Given the description of an element on the screen output the (x, y) to click on. 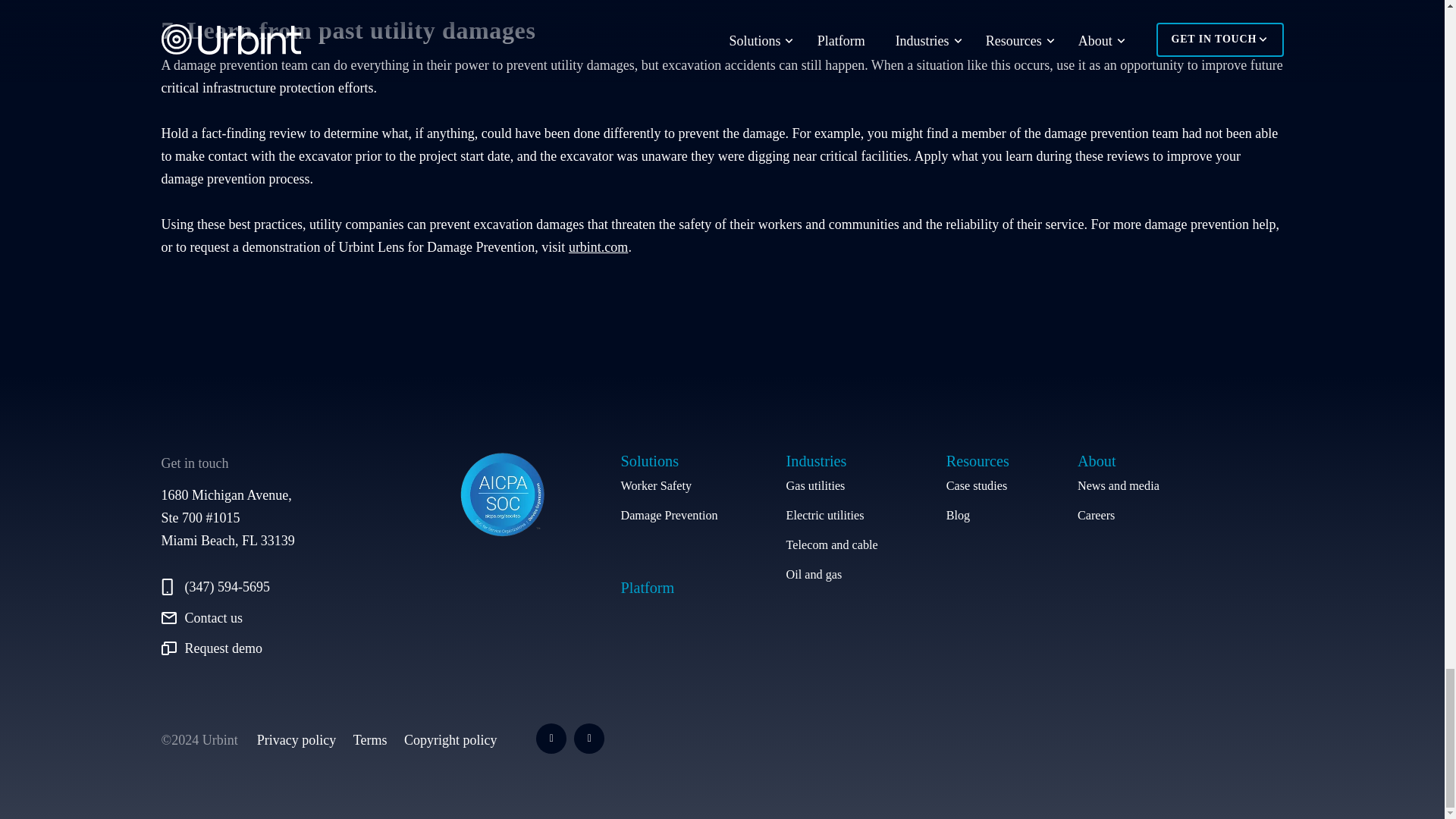
Platform (647, 587)
Contact us (272, 617)
Worker Safety (668, 485)
Solutions (668, 461)
Industries (831, 461)
Electric utilities (831, 516)
Damage Prevention (668, 516)
Gas utilities (831, 485)
Request demo (272, 648)
urbint.com (598, 246)
